Given the description of an element on the screen output the (x, y) to click on. 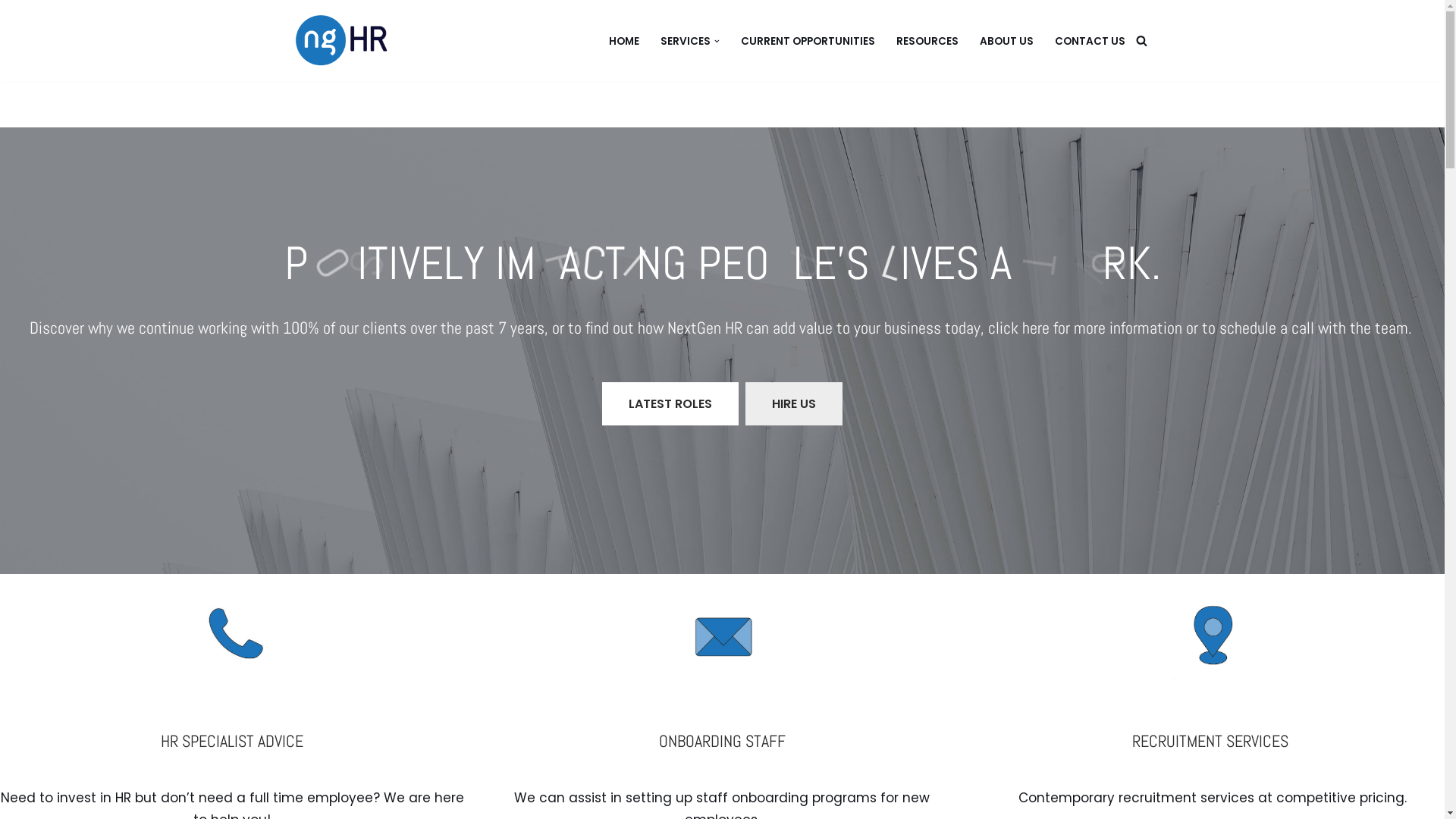
LATEST ROLES Element type: text (670, 404)
SERVICES Element type: text (685, 40)
ABOUT US Element type: text (1006, 40)
Skip to content Element type: text (11, 31)
CURRENT OPPORTUNITIES Element type: text (807, 40)
RESOURCES Element type: text (927, 40)
CONTACT US Element type: text (1089, 40)
HIRE US Element type: text (793, 404)
HOME Element type: text (623, 40)
